Given the description of an element on the screen output the (x, y) to click on. 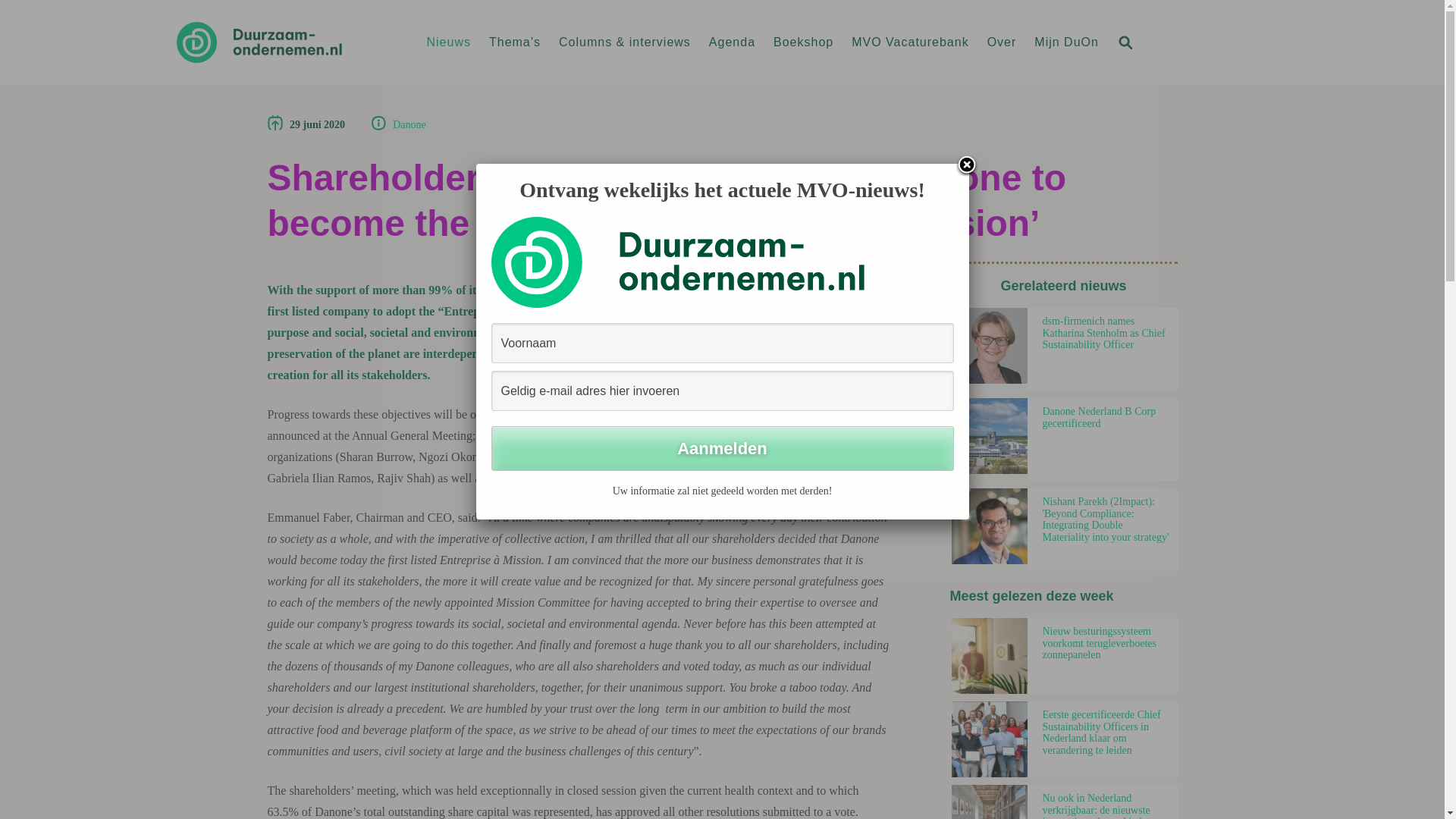
Agenda (732, 42)
MVO Vacaturebank (909, 42)
Close (966, 165)
Zoeken (1124, 41)
Aanmelden (722, 447)
Duurzaam Ondernemen (289, 42)
Over (1001, 42)
Danone Nederland B Corp gecertificeerd (988, 436)
Boekshop (802, 42)
Nieuws (448, 42)
